Given the description of an element on the screen output the (x, y) to click on. 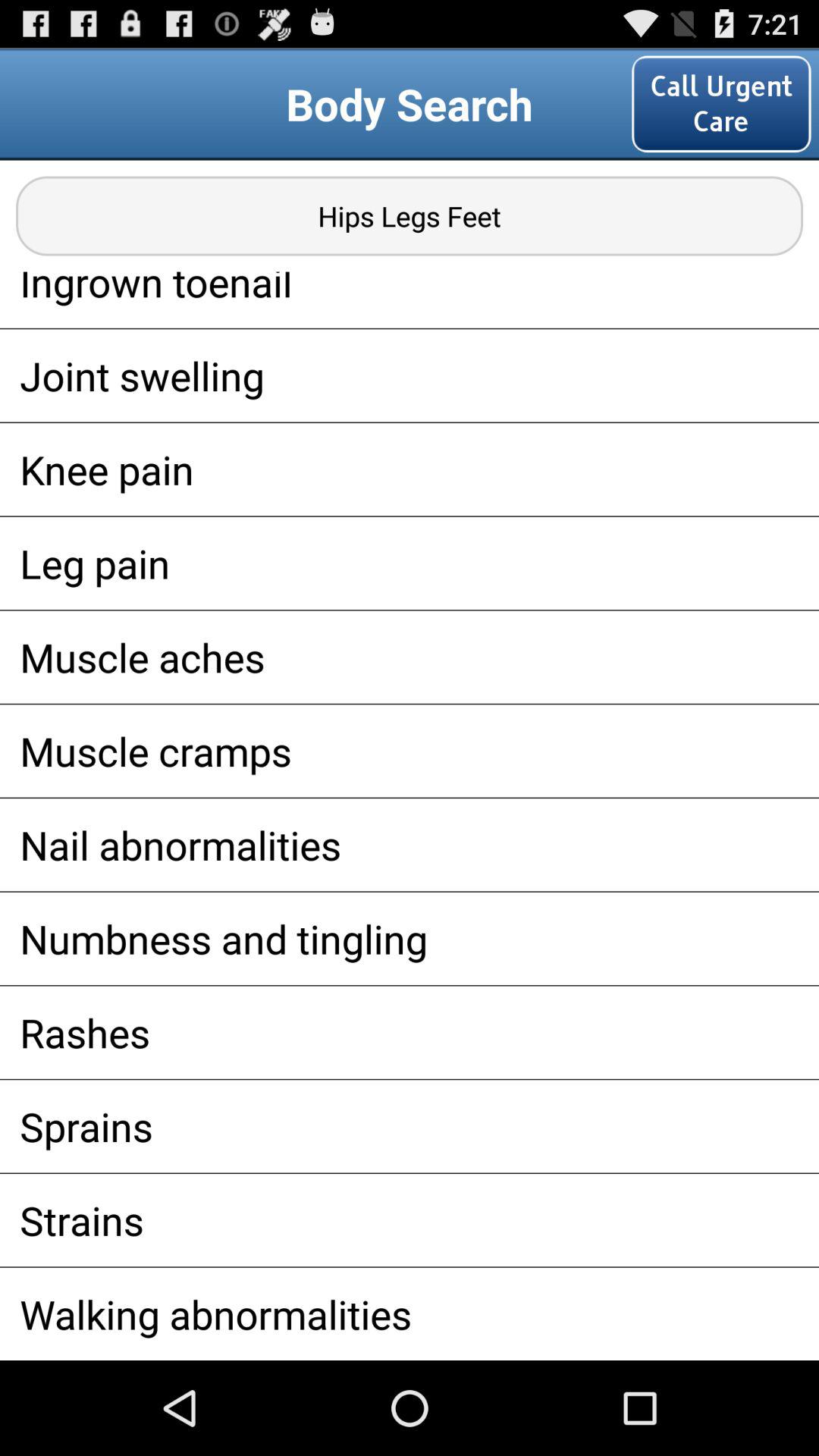
tap muscle aches app (409, 656)
